Given the description of an element on the screen output the (x, y) to click on. 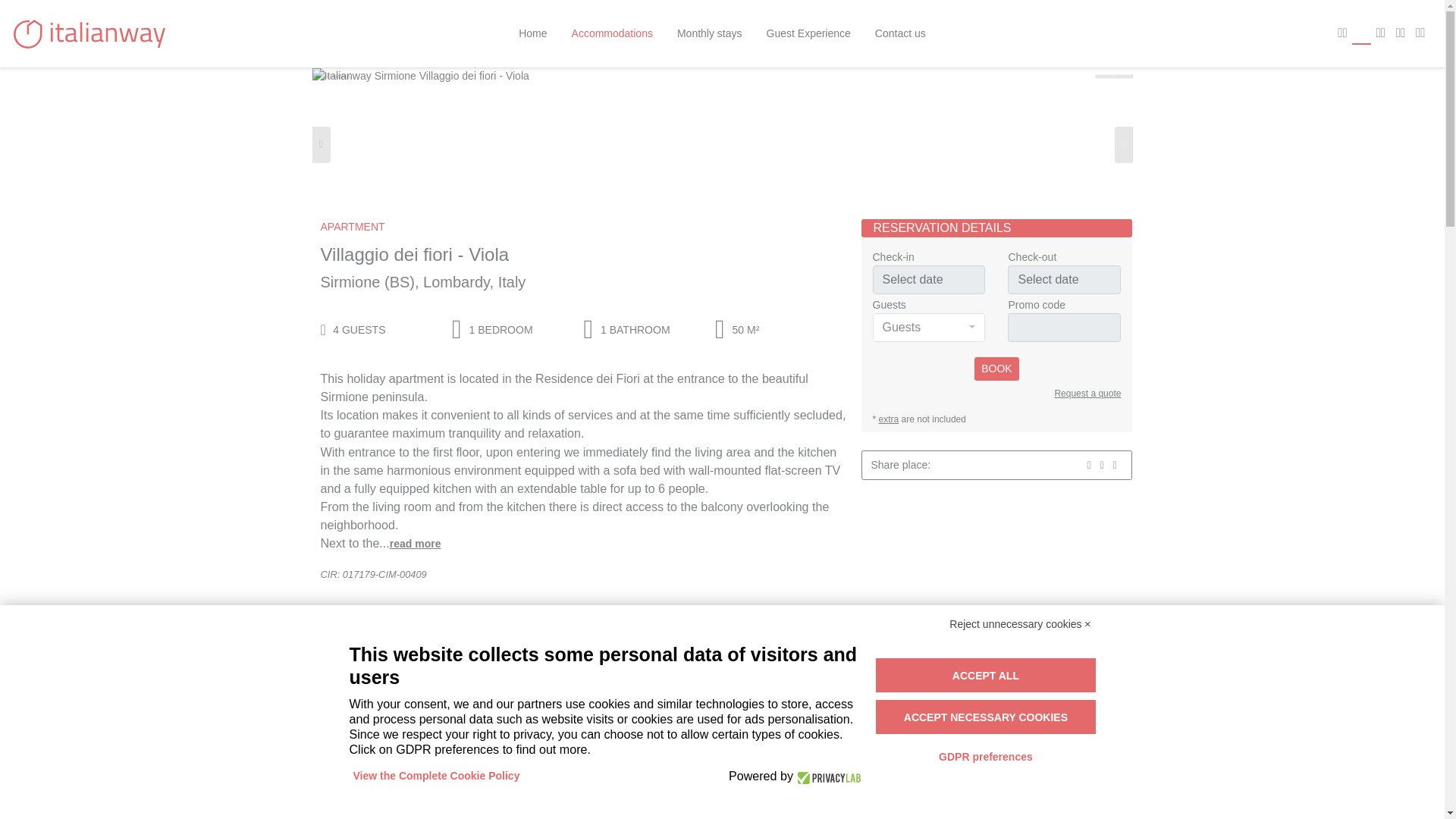
Contact us (900, 33)
Home (532, 33)
Italianway Sirmione Villaggio dei fiori - Viola (722, 75)
Accommodations (612, 33)
Monthly stays (709, 33)
Guest Experience (808, 33)
